Given the description of an element on the screen output the (x, y) to click on. 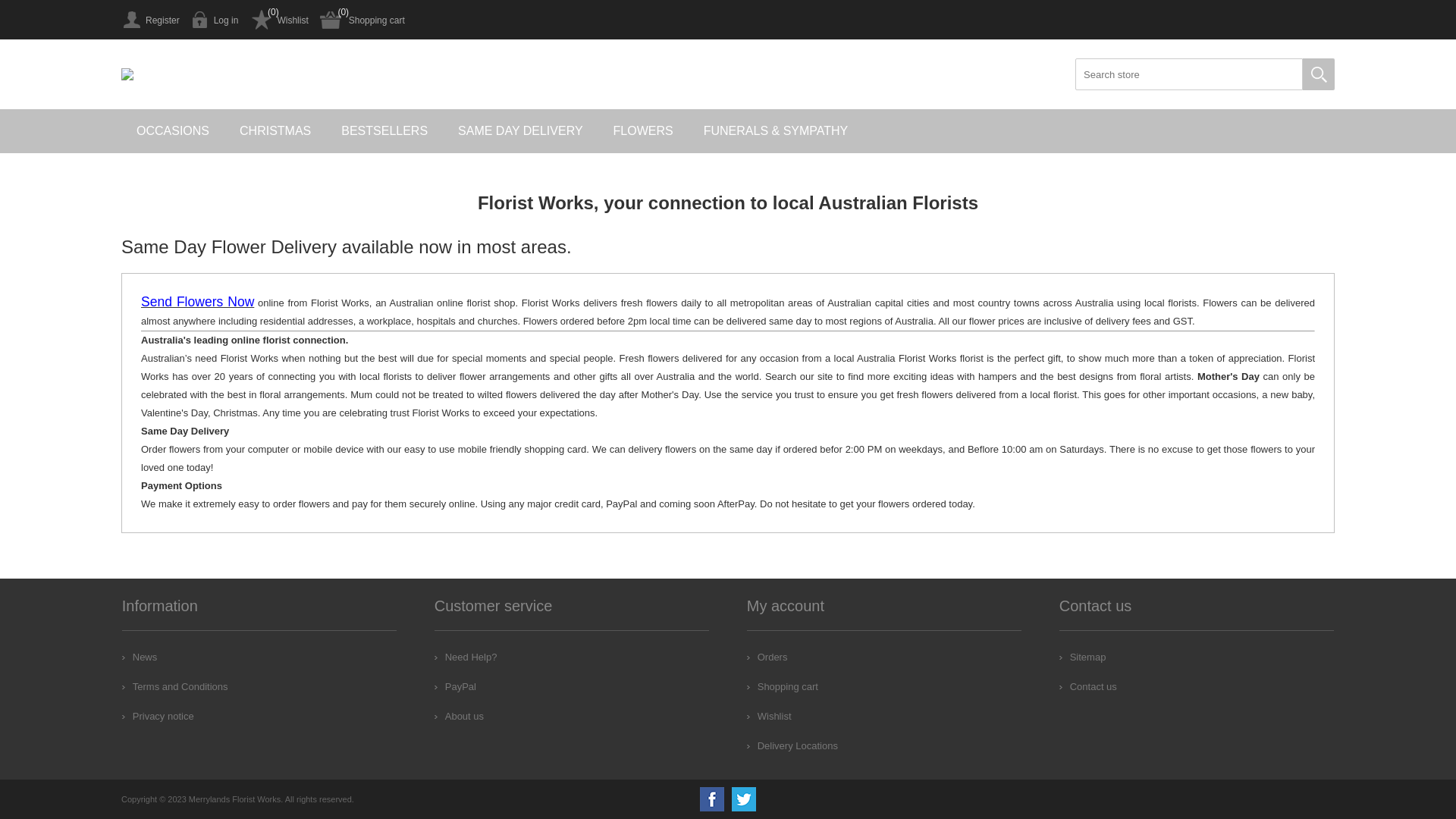
News Element type: text (139, 656)
BESTSELLERS Element type: text (384, 131)
FUNERALS & SYMPATHY Element type: text (775, 131)
About us Element type: text (458, 716)
SAME DAY DELIVERY Element type: text (520, 131)
Need Help? Element type: text (465, 656)
Shopping cart Element type: text (782, 686)
Wishlist Element type: text (768, 716)
FLOWERS Element type: text (643, 131)
Sitemap Element type: text (1082, 656)
OCCASIONS Element type: text (172, 131)
Shopping cart Element type: text (362, 19)
Register Element type: text (150, 19)
Contact us Element type: text (1088, 686)
Terms and Conditions Element type: text (175, 686)
CHRISTMAS Element type: text (275, 131)
Send Flowers Now Element type: text (197, 302)
Facebook Element type: text (711, 799)
PayPal Element type: text (455, 686)
Twitter Element type: text (743, 799)
Privacy notice Element type: text (158, 716)
Search Element type: text (1318, 74)
Wishlist Element type: text (278, 19)
Orders Element type: text (766, 656)
Delivery Locations Element type: text (791, 745)
Log in Element type: text (214, 19)
